Given the description of an element on the screen output the (x, y) to click on. 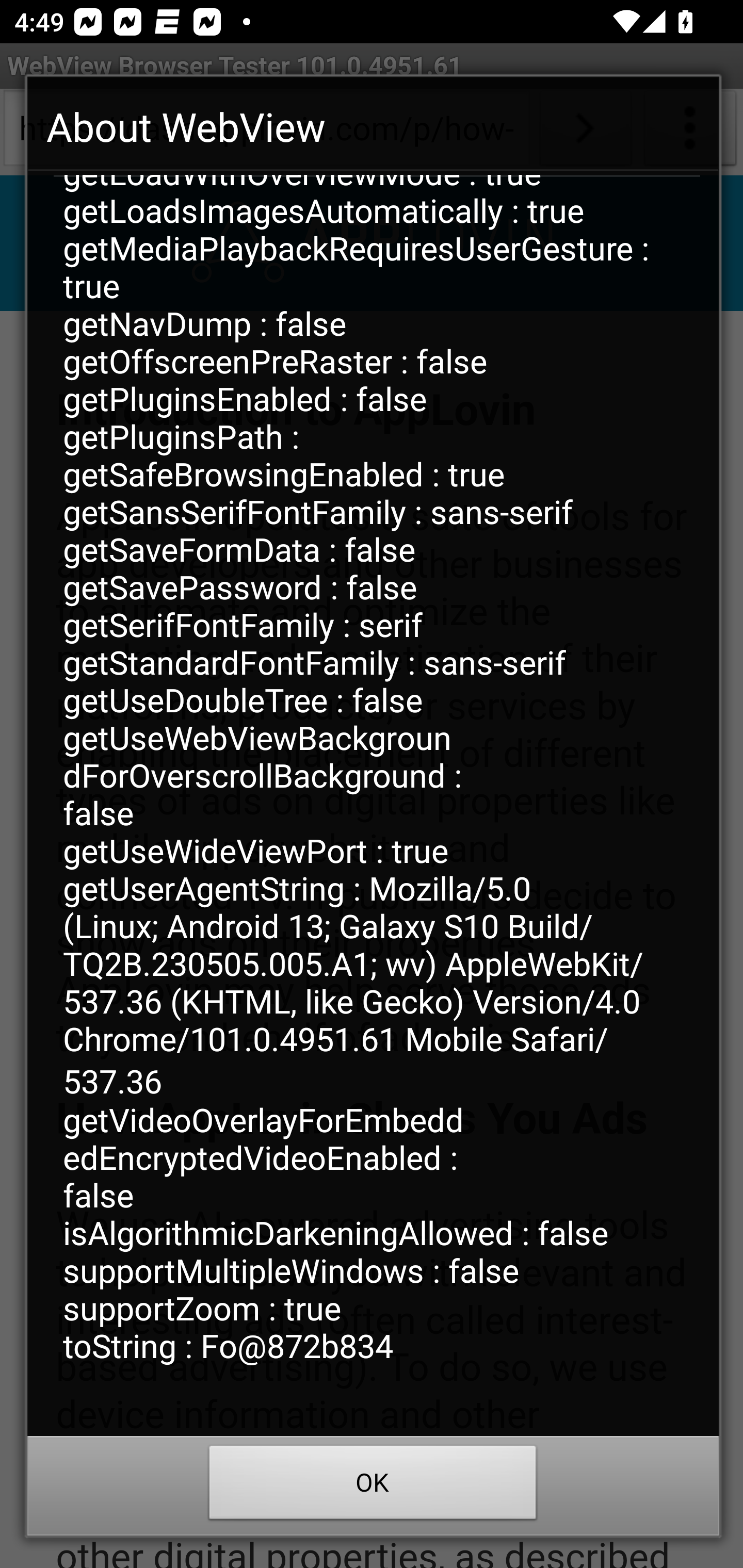
OK (372, 1486)
